Given the description of an element on the screen output the (x, y) to click on. 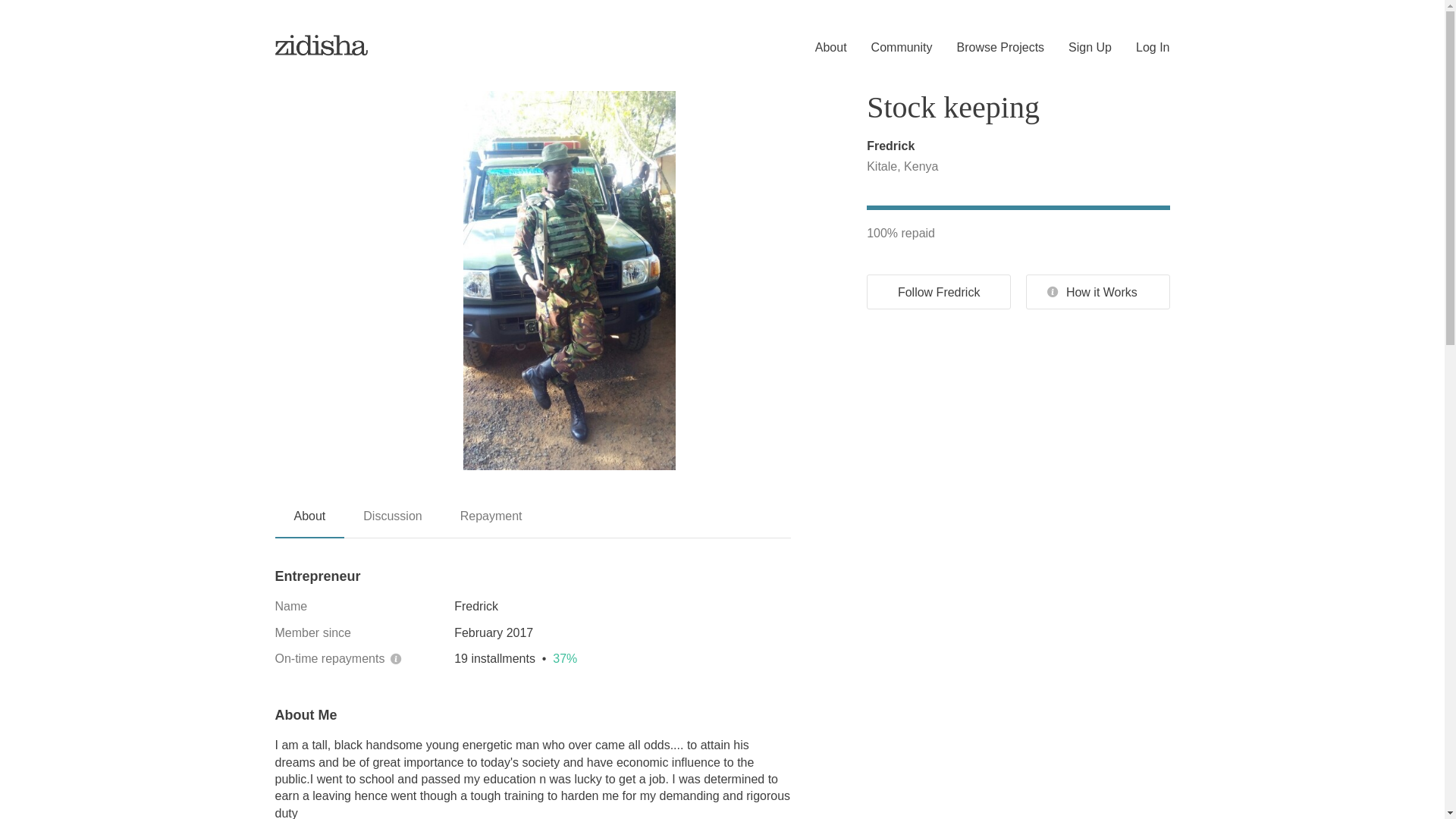
Zidisha (321, 44)
How it Works (1098, 291)
Sign Up (1077, 47)
Follow Fredrick (938, 291)
Browse Projects (989, 47)
About (818, 47)
Discussion (392, 521)
Log In (1140, 47)
About (309, 522)
Repayment (491, 521)
Community (890, 47)
